Given the description of an element on the screen output the (x, y) to click on. 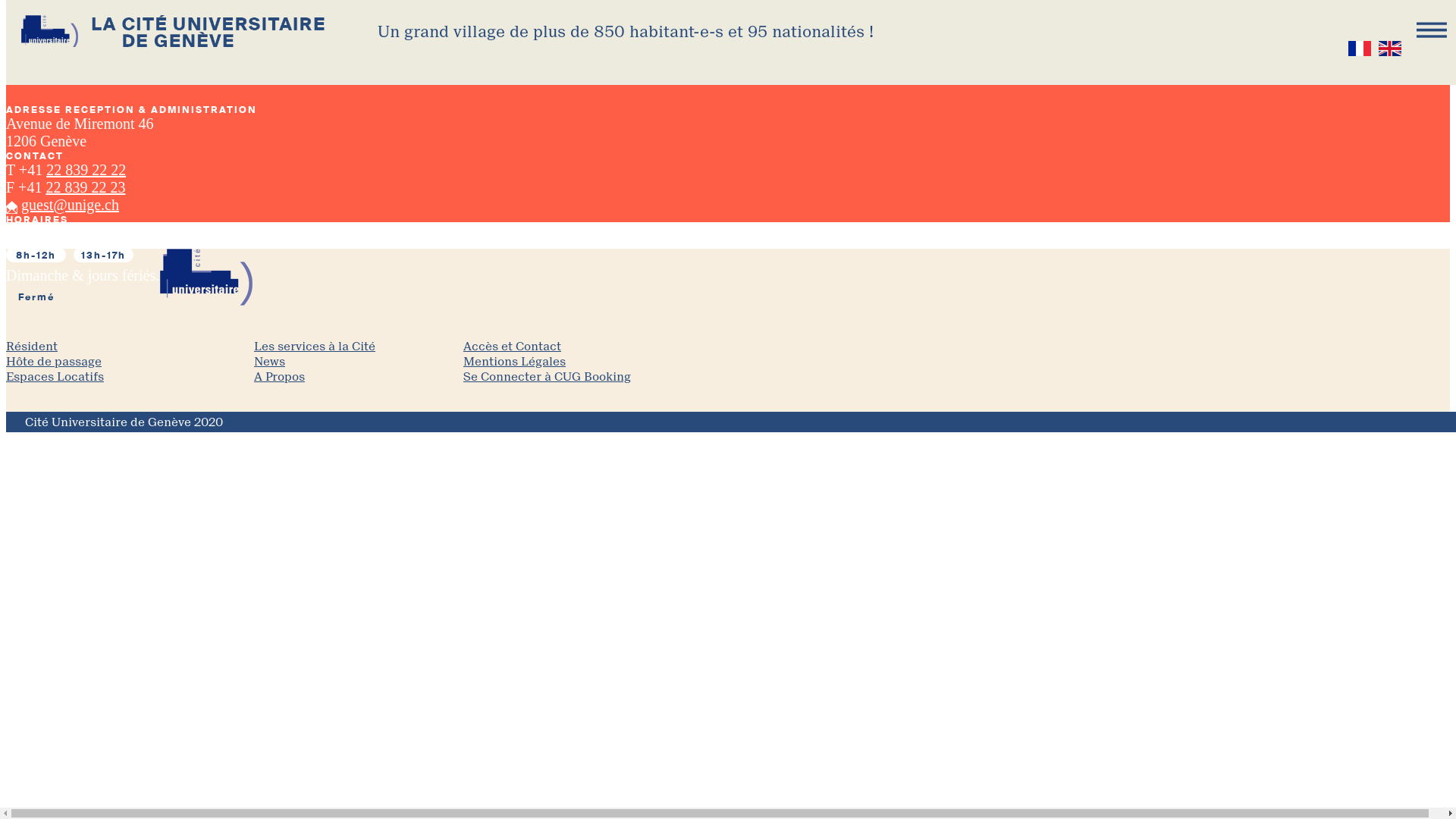
22 839 22 23 Element type: text (85, 186)
guest@unige.ch Element type: text (70, 204)
News Element type: text (358, 361)
22 839 22 22 Element type: text (85, 169)
A Propos Element type: text (358, 376)
Aller au contenu principal Element type: text (6, 0)
Espaces Locatifs Element type: text (130, 376)
